Given the description of an element on the screen output the (x, y) to click on. 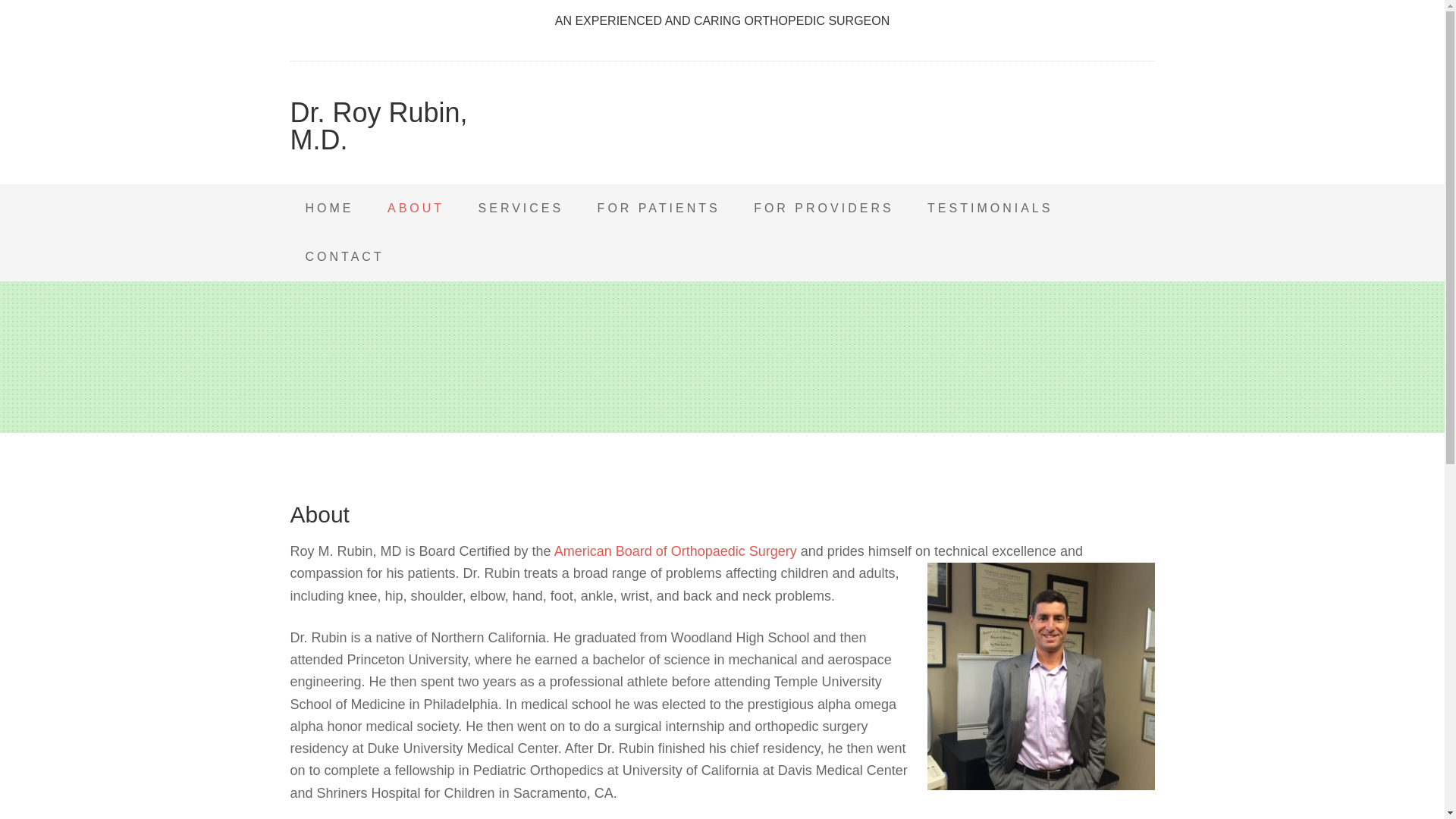
TESTIMONIALS (989, 208)
SERVICES (521, 208)
Dr. Roy Rubin, M.D. (378, 126)
American Board of Orthopaedic Surgery (677, 550)
FOR PROVIDERS (823, 208)
HOME (328, 208)
FOR PATIENTS (658, 208)
ABOUT (416, 208)
CONTACT (343, 256)
